Given the description of an element on the screen output the (x, y) to click on. 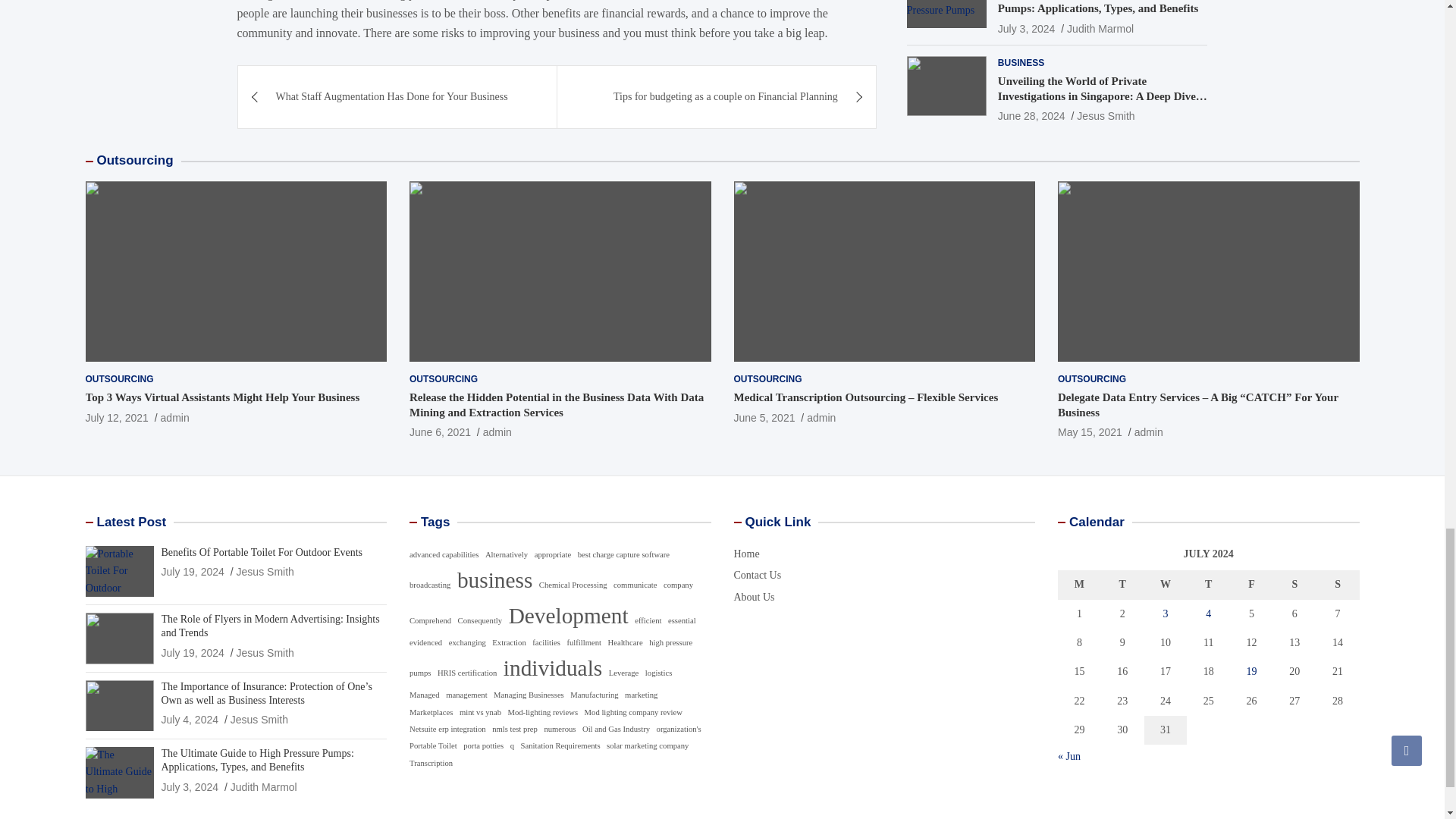
Benefits Of Portable Toilet For Outdoor Events (192, 571)
Top 3 Ways Virtual Assistants Might Help Your Business (116, 417)
